Given the description of an element on the screen output the (x, y) to click on. 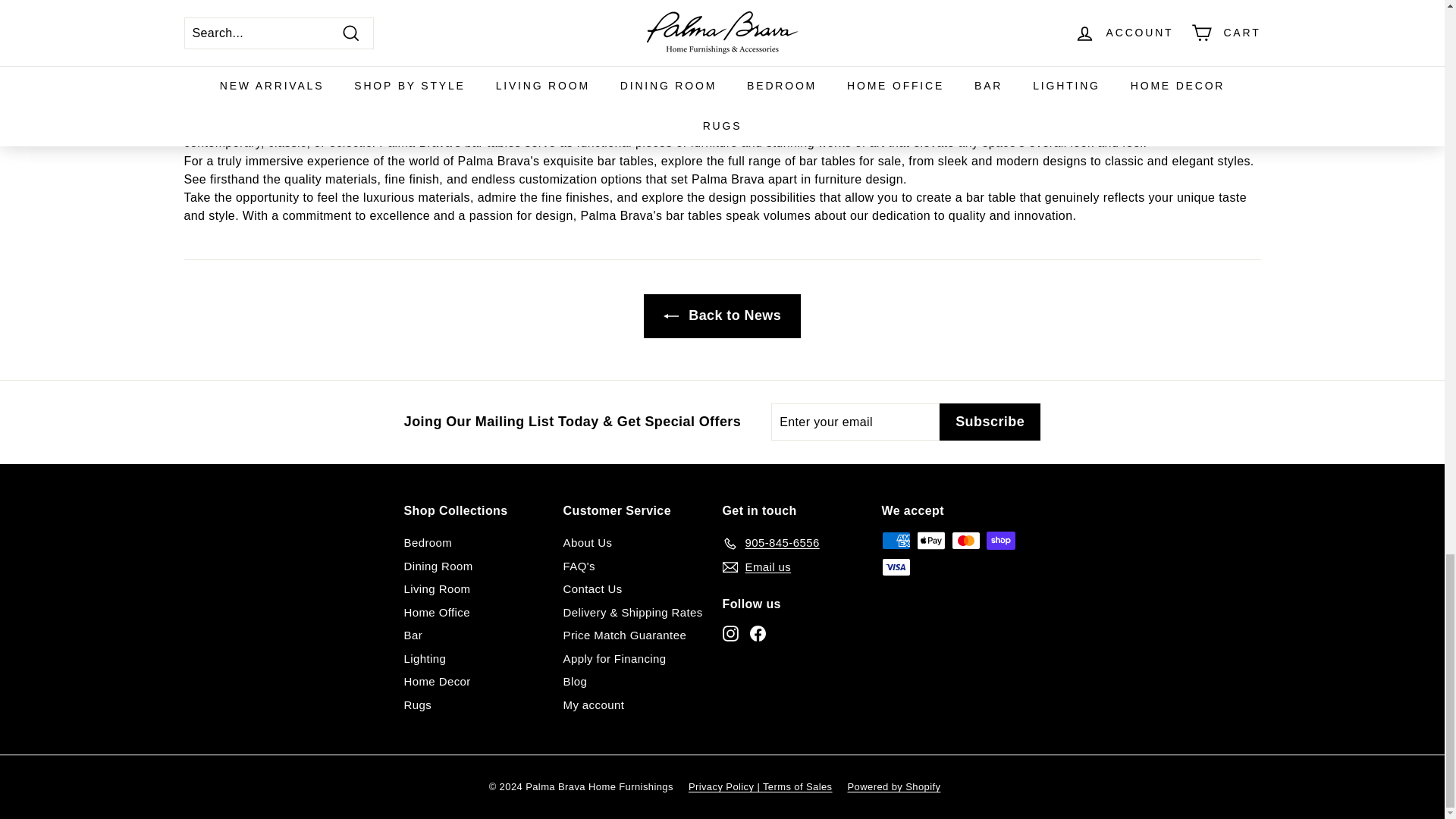
Shop Pay (999, 540)
Mastercard (964, 540)
Apple Pay (929, 540)
Palma Brava Home Furnishings on Instagram (730, 633)
Palma Brava Home Furnishings on Facebook (757, 633)
American Express (895, 540)
Visa (895, 566)
